Given the description of an element on the screen output the (x, y) to click on. 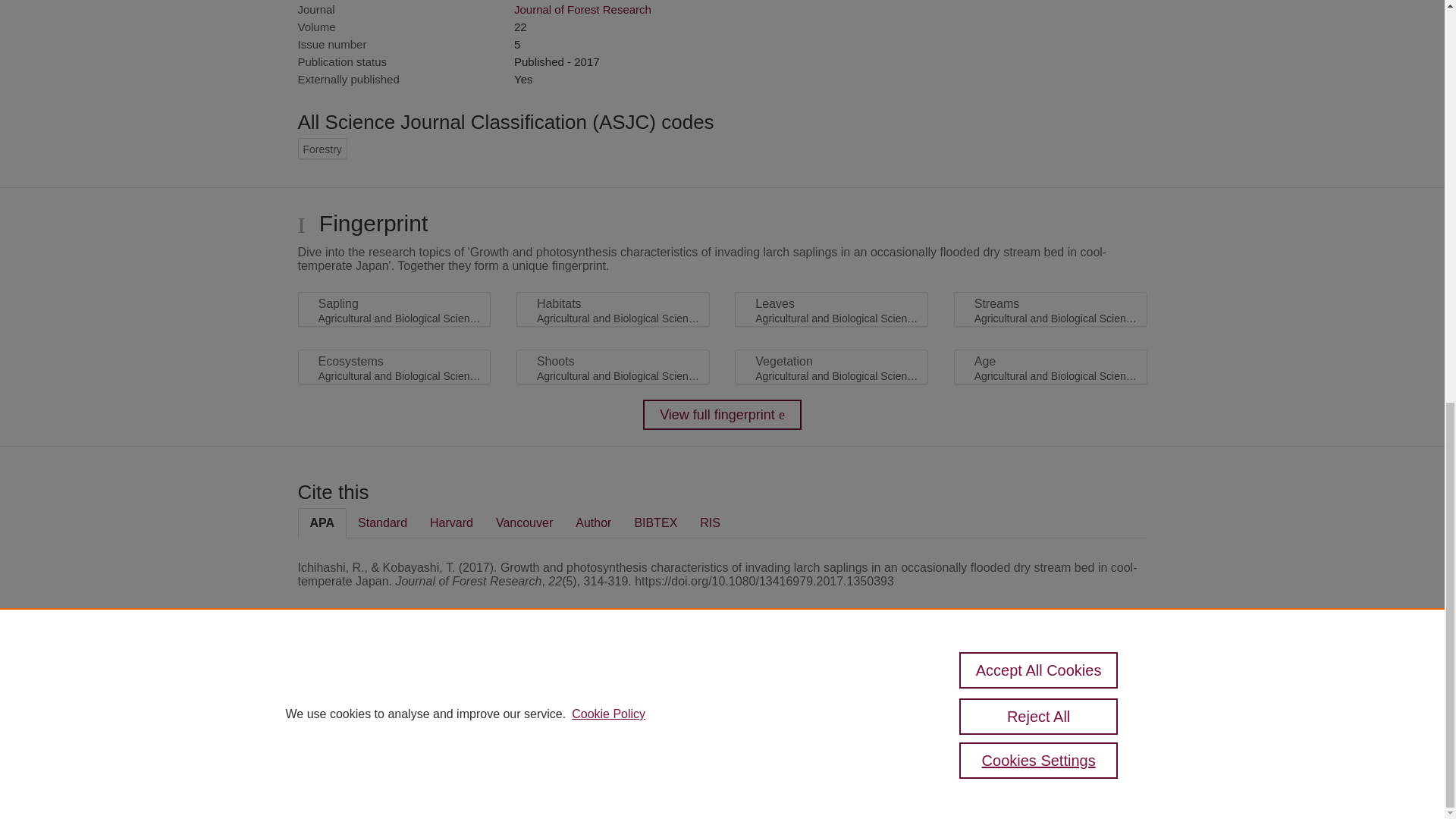
Elsevier B.V. (506, 707)
Scopus (394, 686)
View full fingerprint (722, 414)
use of cookies (796, 739)
Pure (362, 686)
Journal of Forest Research (581, 9)
